Given the description of an element on the screen output the (x, y) to click on. 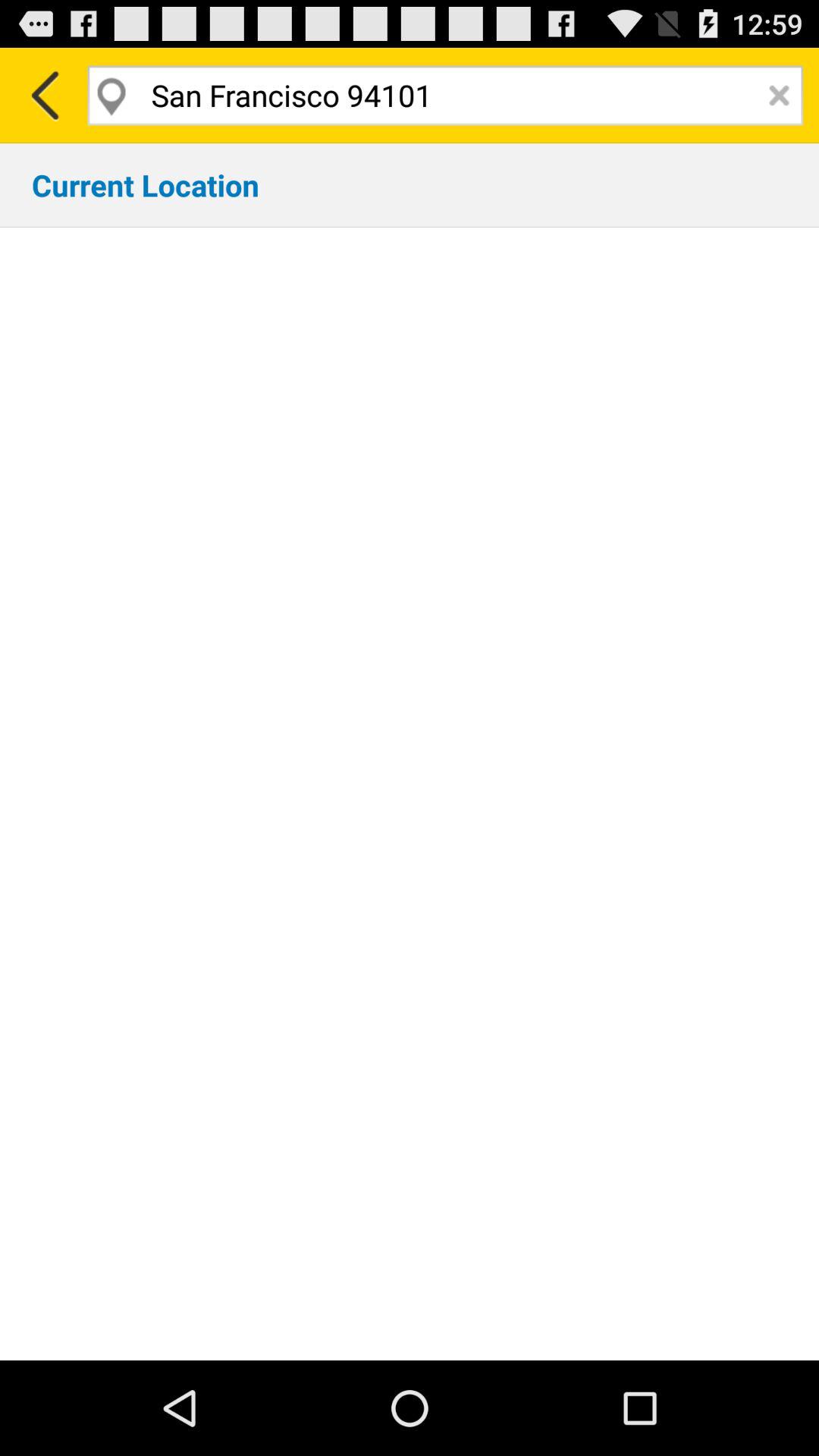
close the window (779, 95)
